Given the description of an element on the screen output the (x, y) to click on. 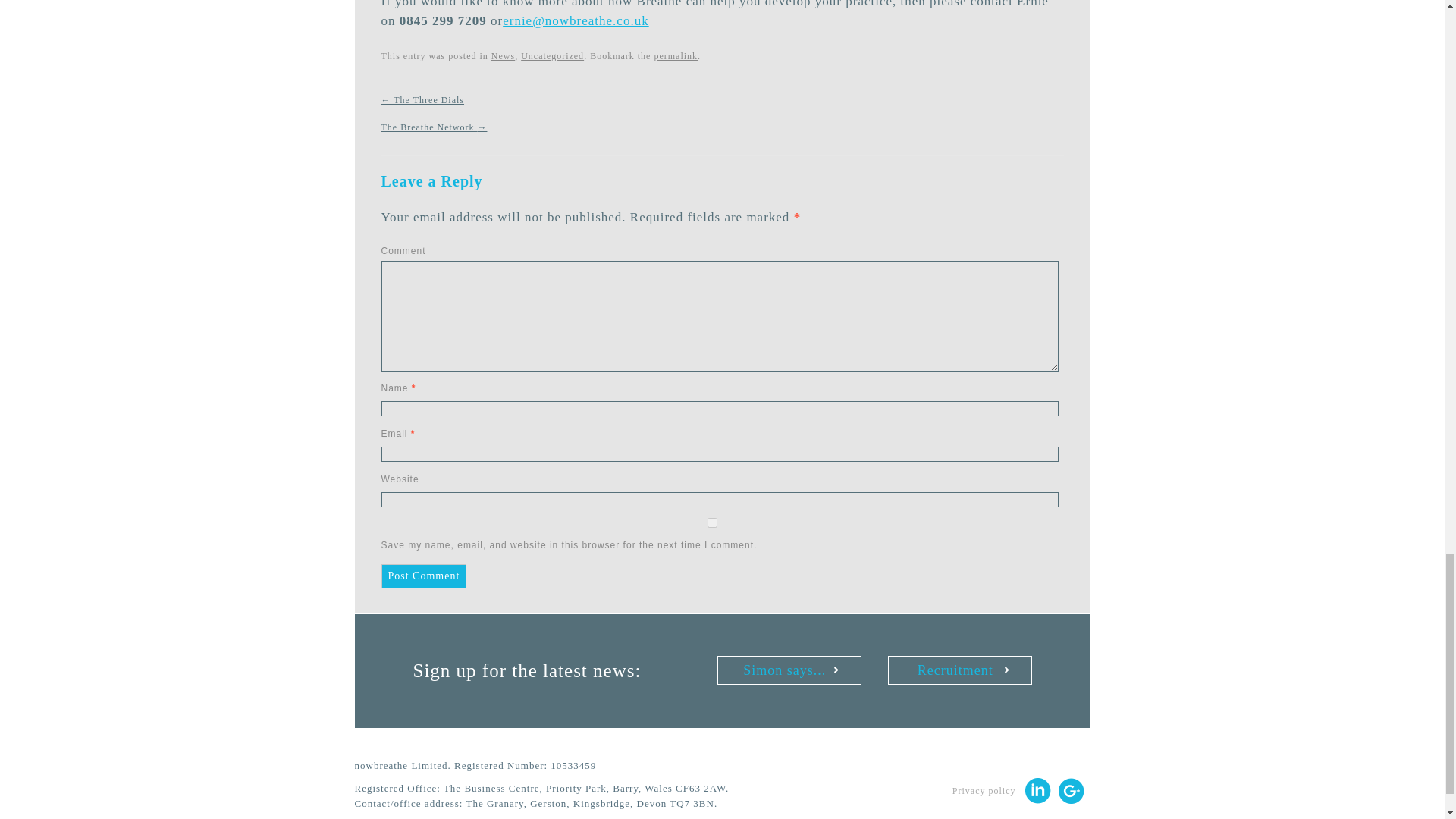
Post Comment (422, 575)
Uncategorized (552, 55)
News (503, 55)
yes (711, 522)
Permalink to Growing Your Practice with New Fee-Earners (675, 55)
permalink (675, 55)
